Given the description of an element on the screen output the (x, y) to click on. 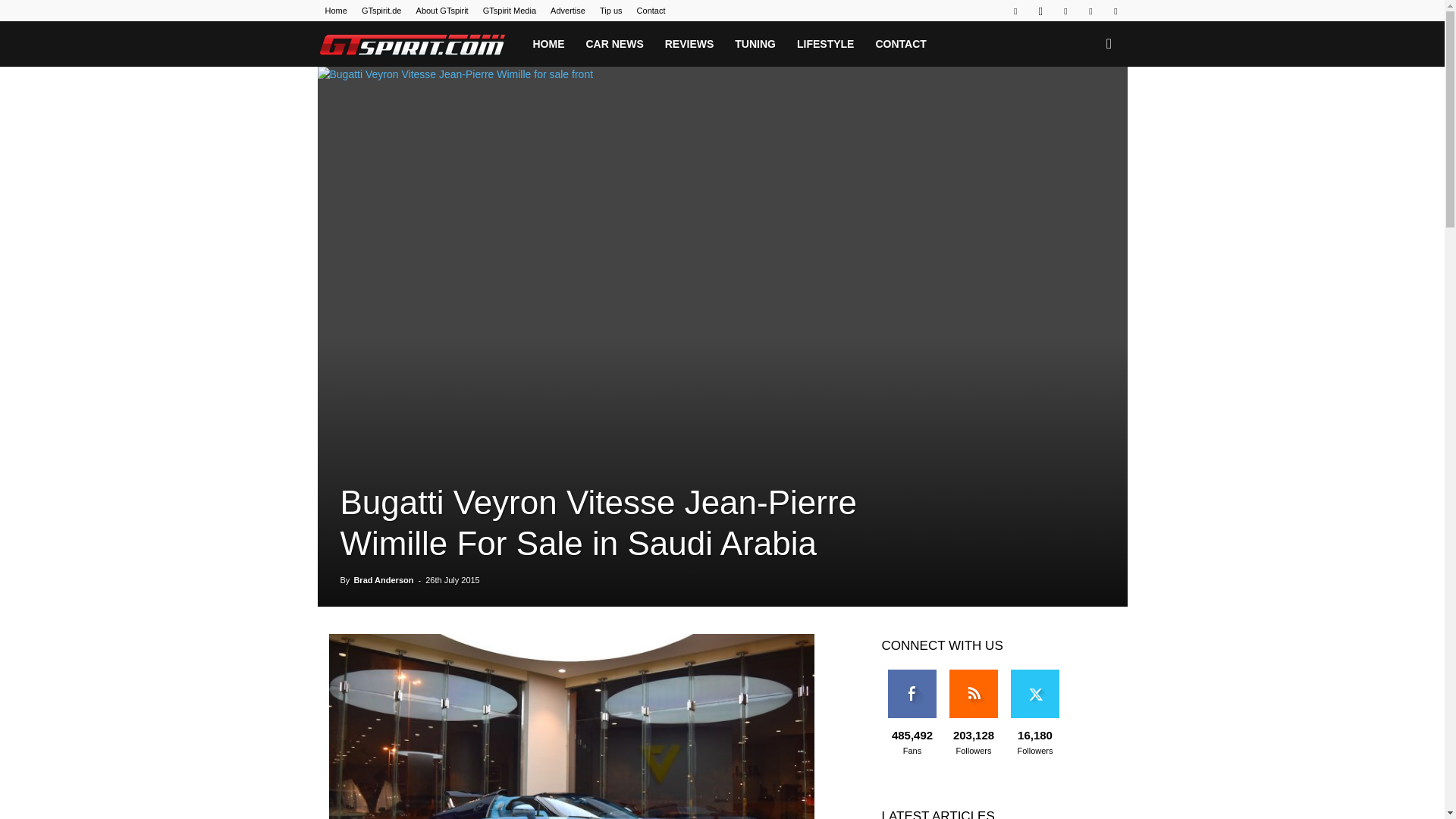
GTspirit (411, 44)
Home (335, 10)
GTspirit.de (381, 10)
Facebook (1015, 10)
CONTACT (900, 43)
RSS (1065, 10)
Search (1085, 109)
LIFESTYLE (825, 43)
Brad Anderson (383, 579)
GTspirit Media (509, 10)
